Given the description of an element on the screen output the (x, y) to click on. 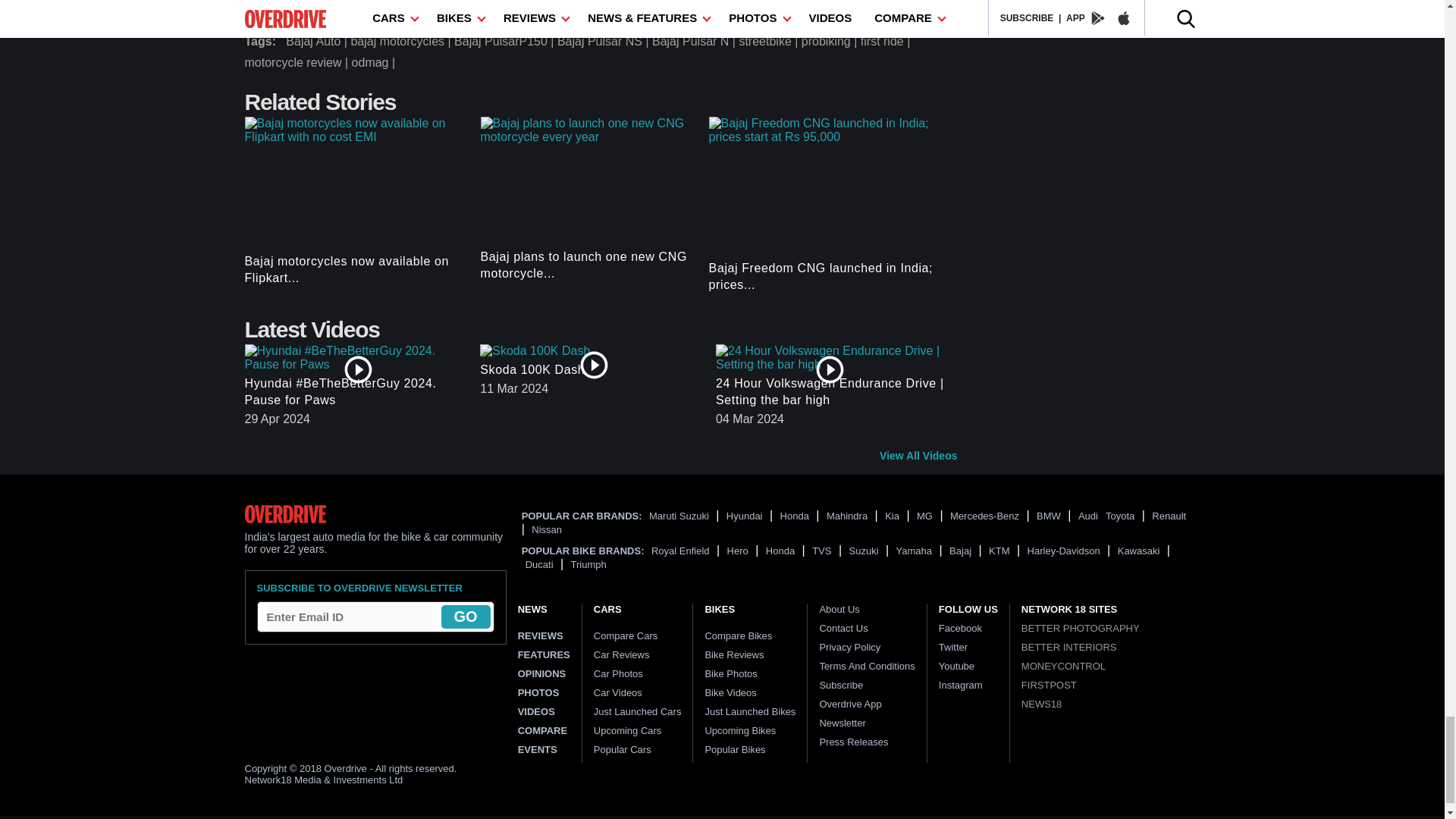
Bajaj Pulsar NS (604, 41)
bajaj motorcycles (402, 41)
Bajaj PulsarP150 (505, 41)
go (465, 616)
Bajaj Auto (317, 41)
go (465, 616)
